Given the description of an element on the screen output the (x, y) to click on. 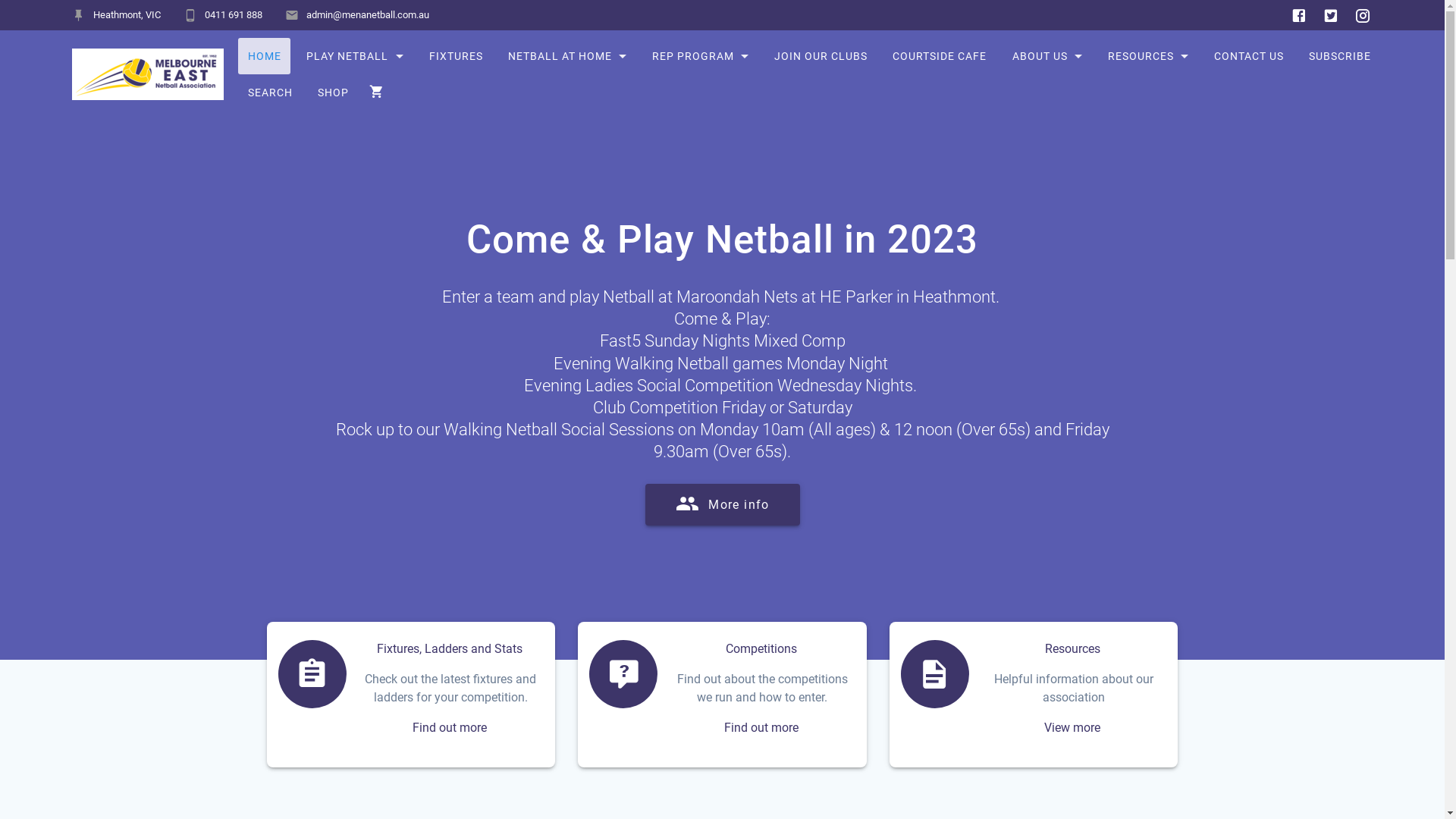
Competitions Element type: text (760, 649)
RESOURCES Element type: text (1148, 55)
Fixtures, Ladders and Stats Element type: text (449, 649)
Find out more Element type: text (760, 727)
PLAY NETBALL Element type: text (354, 55)
JOIN OUR CLUBS Element type: text (820, 55)
SHOP Element type: text (332, 92)
SUBSCRIBE Element type: text (1339, 55)
View more Element type: text (1072, 727)
FIXTURES Element type: text (455, 55)
CONTACT US Element type: text (1248, 55)
ABOUT US Element type: text (1047, 55)
REP PROGRAM Element type: text (700, 55)
COURTSIDE CAFE Element type: text (938, 55)
SEARCH Element type: text (269, 92)
NETBALL AT HOME Element type: text (567, 55)
HOME Element type: text (264, 55)
Resources Element type: text (1072, 649)
More info Element type: text (722, 504)
Find out more Element type: text (449, 727)
